Given the description of an element on the screen output the (x, y) to click on. 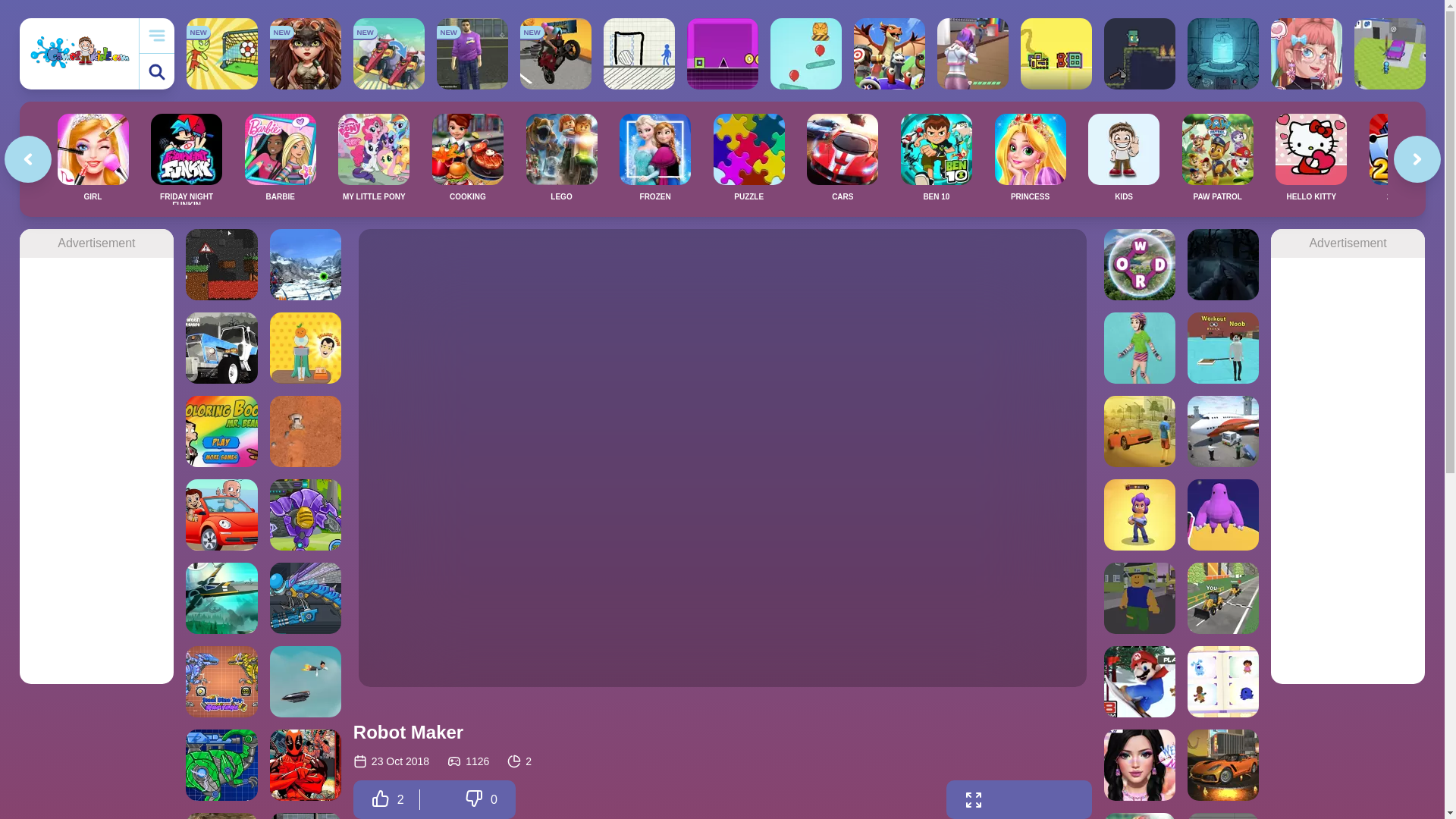
NEW (221, 53)
Idle Merge Car And Race (389, 53)
NEW (472, 53)
NEW (555, 53)
Geometry FreezeNova (722, 53)
Fury of the Steampunk Princess (304, 53)
Choppy Orc (1138, 53)
Ramp Bike Jumping (555, 53)
EVO (888, 53)
Puffy Cat (805, 53)
Stickman Football (221, 53)
My Mini Car Service (1389, 53)
NEW (304, 53)
GAMES KIDS ONLINE - PLAY ALL FREE (79, 52)
Decor My Hair (1306, 53)
